Given the description of an element on the screen output the (x, y) to click on. 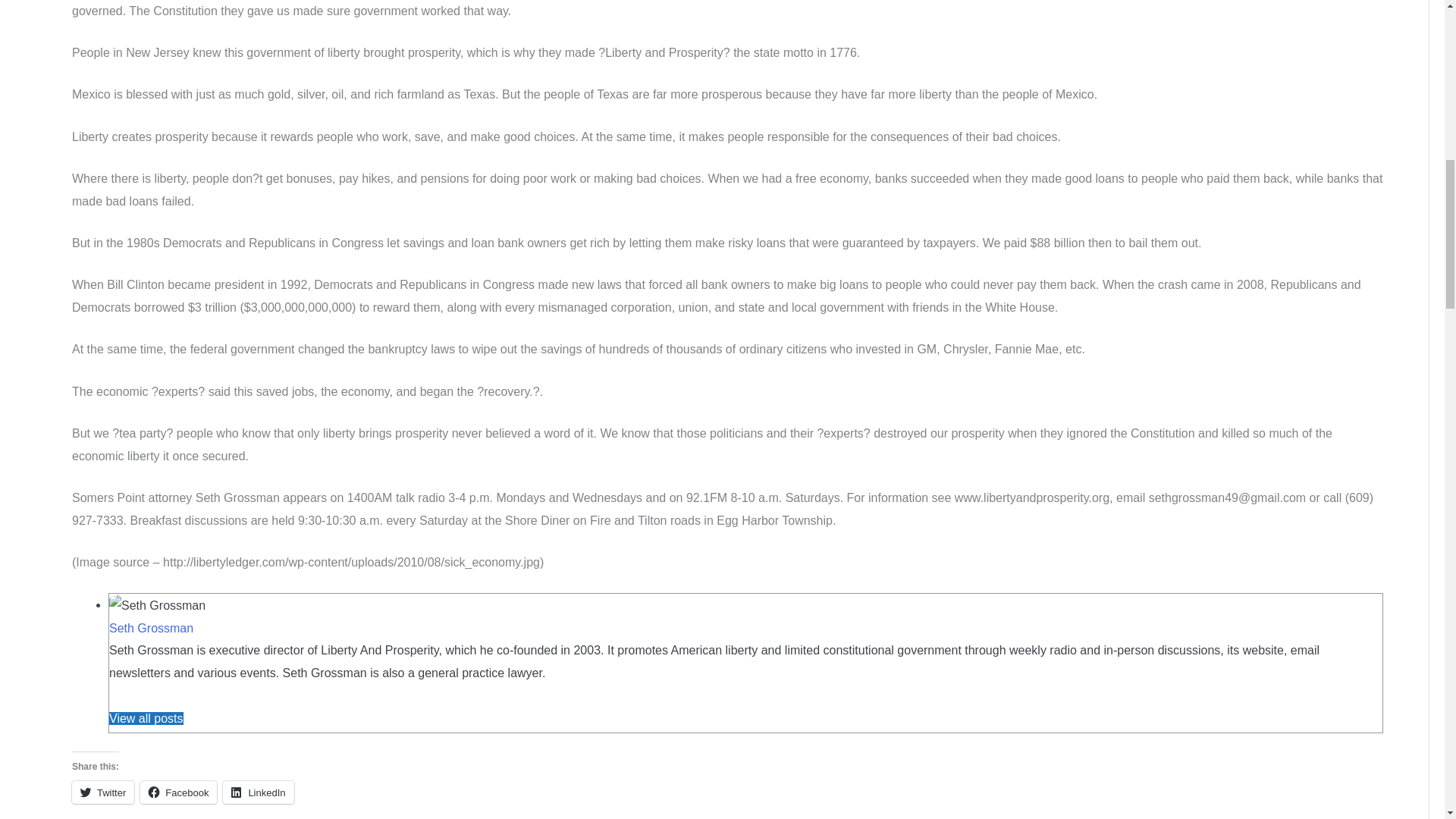
View all posts (146, 717)
Facebook (177, 792)
Click to share on Facebook (177, 792)
Seth Grossman (151, 627)
View all posts (146, 717)
Click to share on Twitter (102, 792)
Click to share on LinkedIn (258, 792)
Twitter (102, 792)
LinkedIn (258, 792)
Seth Grossman (151, 627)
